Given the description of an element on the screen output the (x, y) to click on. 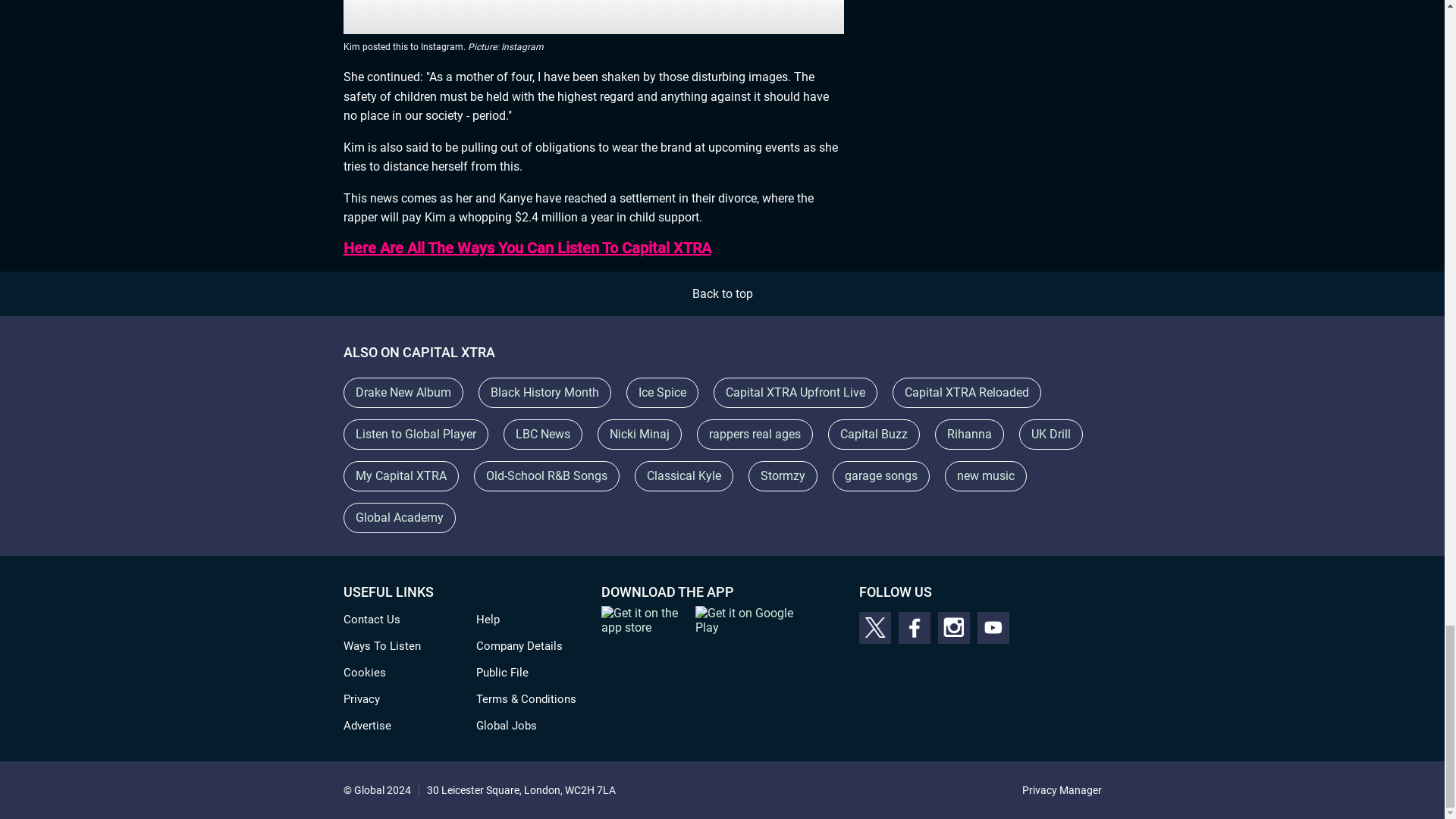
Follow CapitalXtra on Facebook (914, 627)
Follow CapitalXtra on X (874, 627)
Back to top (721, 293)
Follow CapitalXtra on Instagram (953, 627)
Follow CapitalXtra on Youtube (992, 627)
